Given the description of an element on the screen output the (x, y) to click on. 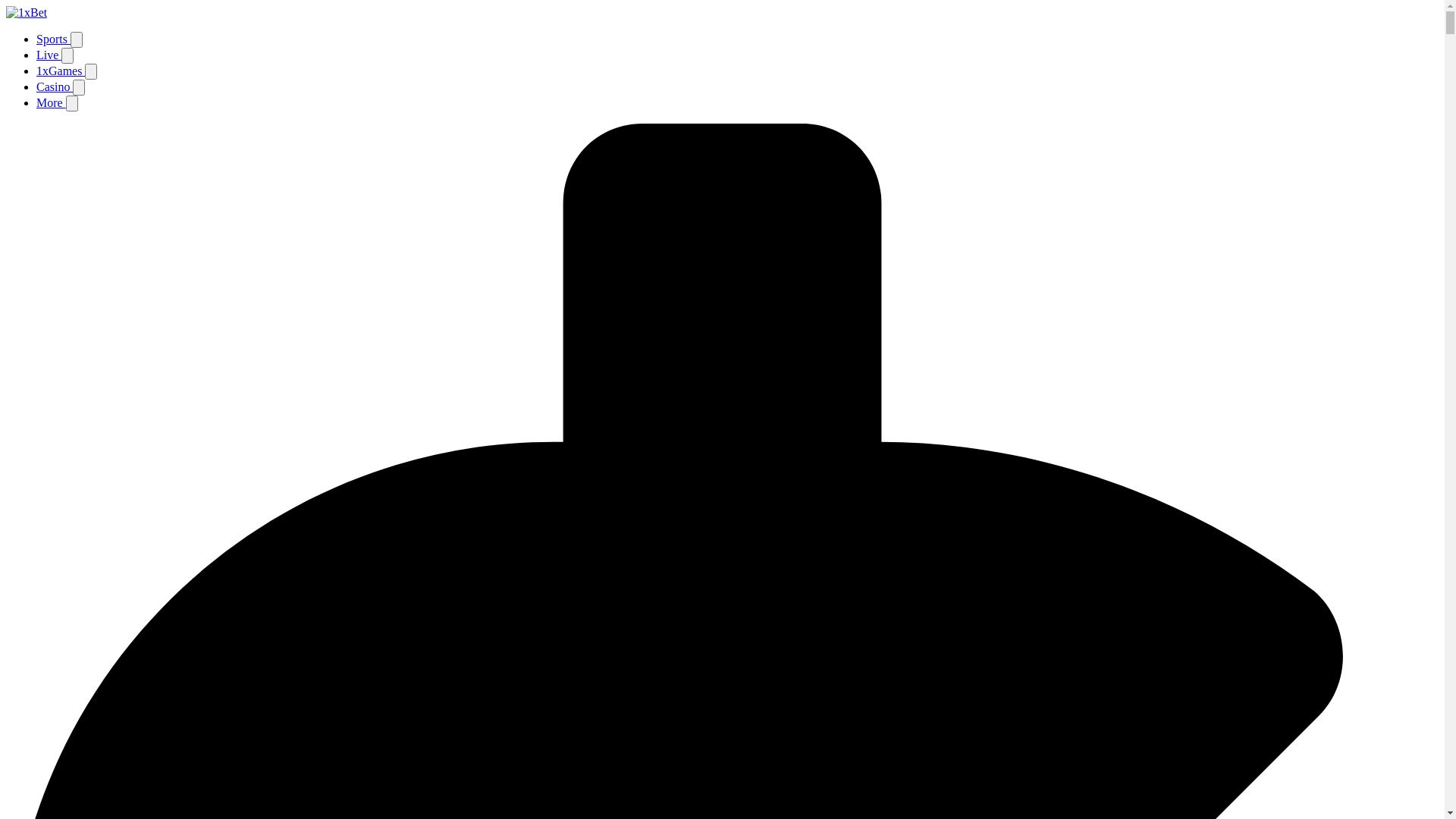
More Element type: text (50, 102)
Sports Element type: text (53, 38)
Live Element type: text (48, 54)
Casino Element type: text (54, 86)
1xGames Element type: text (60, 70)
